Given the description of an element on the screen output the (x, y) to click on. 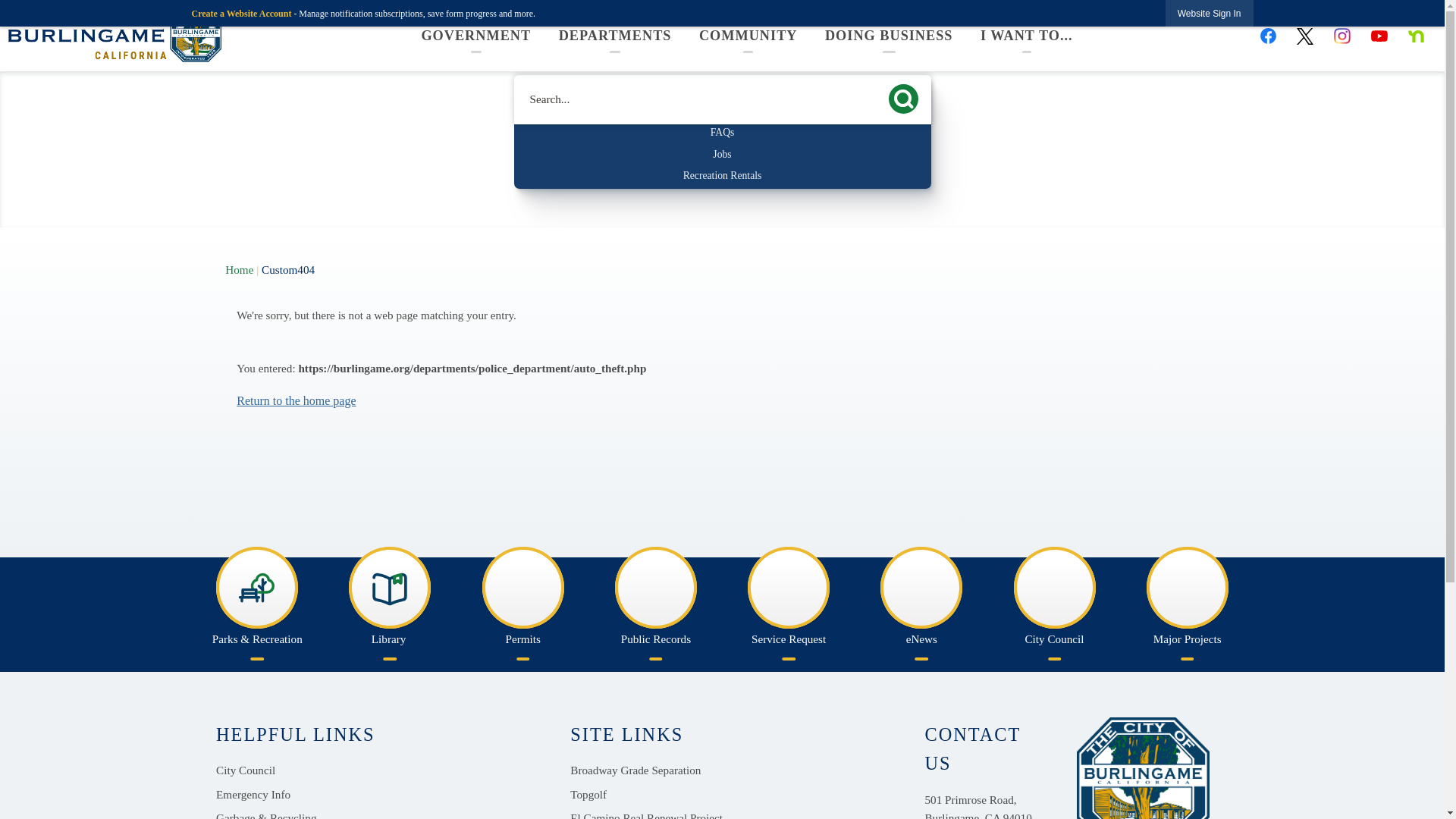
Emergency Info (252, 794)
Return to the home page (295, 400)
Broadway Grade Separation (635, 770)
Jobs (722, 153)
Website Sign In (1209, 13)
Home (239, 269)
DEPARTMENTS (614, 37)
Create a Website Account (240, 13)
Public Records (655, 599)
COMMUNITY (747, 37)
Search... (722, 99)
SITE LINKS (626, 735)
City Council (245, 770)
City Council (1054, 599)
GOVERNMENT (475, 37)
